Given the description of an element on the screen output the (x, y) to click on. 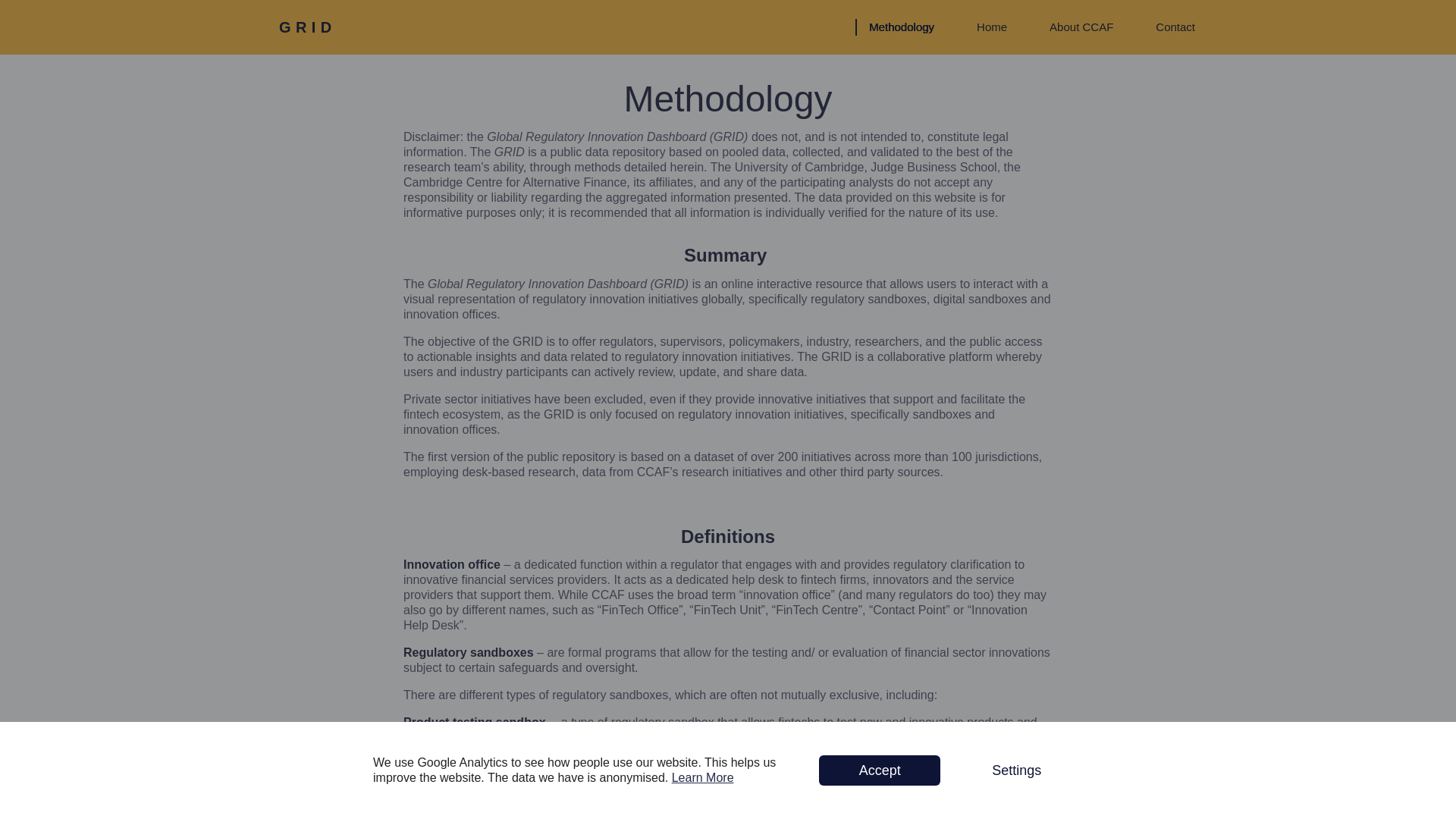
Main page (305, 27)
Contact (1171, 27)
Methodology (898, 27)
About CCAF (1077, 27)
Contact (1171, 27)
Learn More (702, 777)
Settings (1016, 770)
Home (987, 27)
Accept (879, 770)
About CCAF (1077, 27)
Home (987, 27)
G R I D (305, 27)
